Given the description of an element on the screen output the (x, y) to click on. 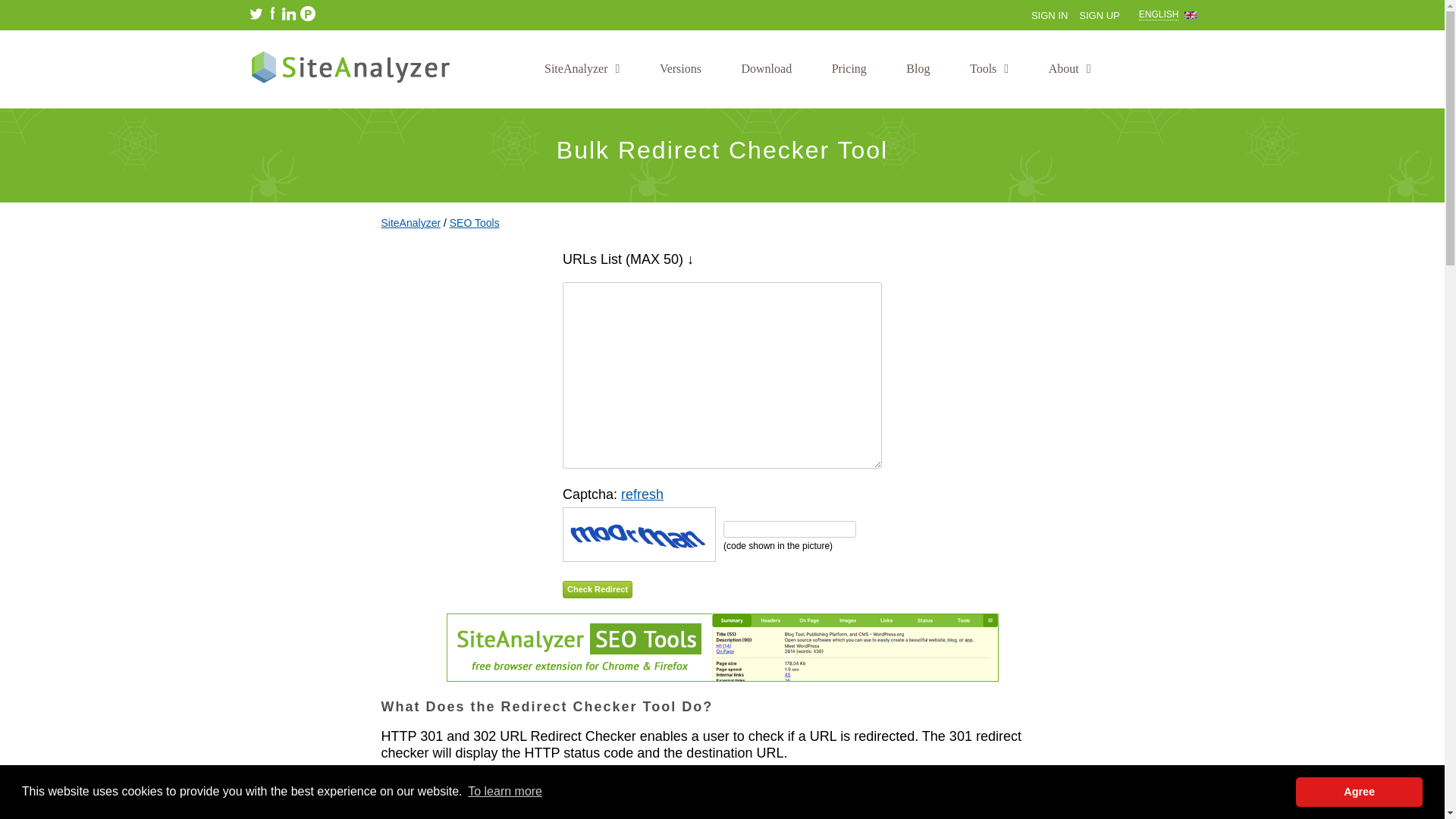
Agree (1358, 791)
SIGN UP (1098, 15)
Check Redirect (596, 589)
Select your language (1167, 14)
SIGN IN (1048, 15)
Linkedin (289, 13)
Versions (680, 68)
SiteAnalyzer (582, 68)
Twitter (1167, 14)
Product Hunt (255, 13)
To learn more (307, 13)
